Given the description of an element on the screen output the (x, y) to click on. 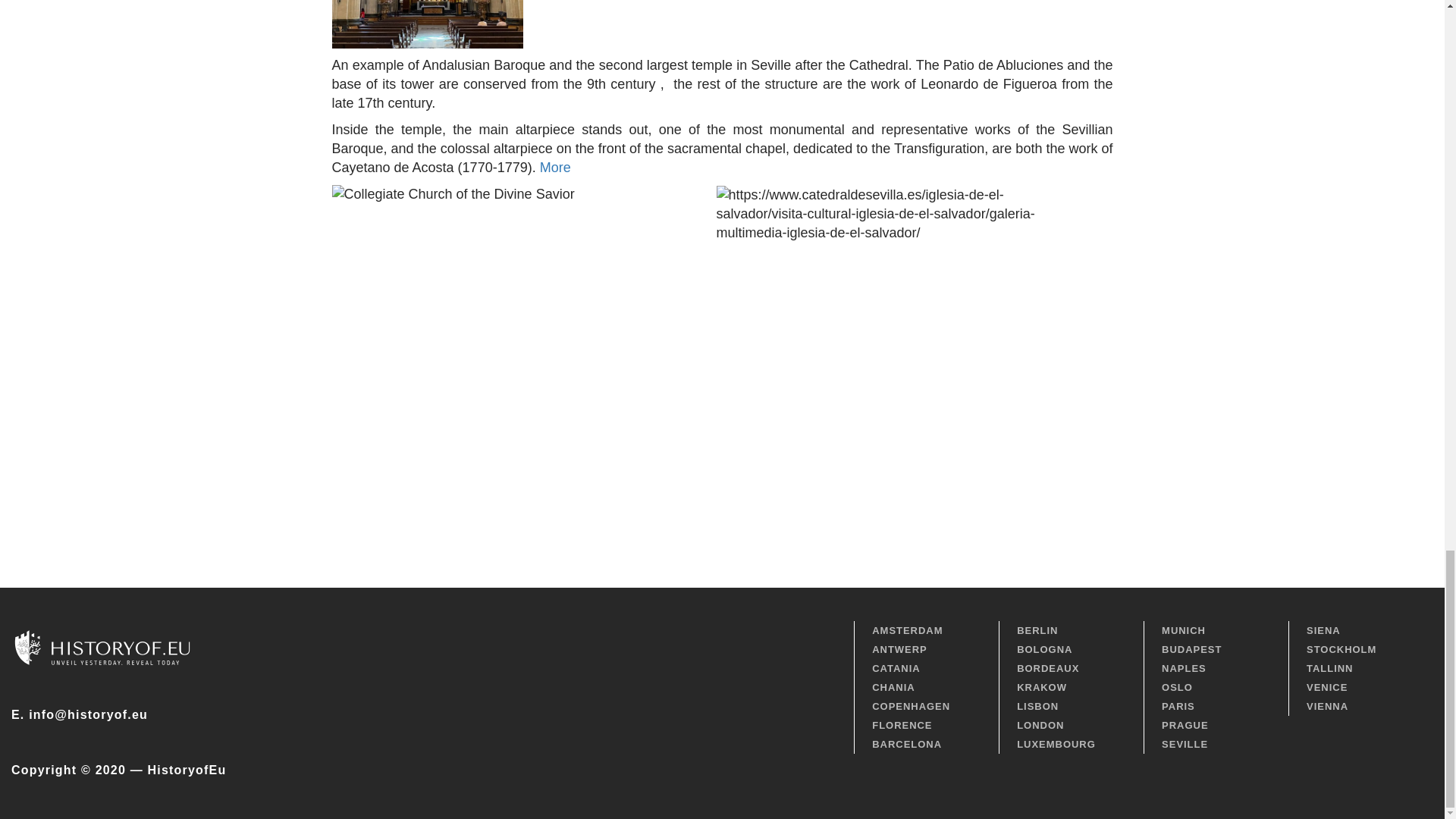
BARCELONA (925, 743)
MUNICH (1215, 629)
KRAKOW (1070, 687)
BOLOGNA (1070, 649)
CATANIA (925, 668)
BUDAPEST (1215, 649)
COPENHAGEN (925, 705)
OSLO (1215, 687)
LONDON (1070, 724)
ANTWERP (925, 649)
FLORENCE (925, 724)
BORDEAUX (1070, 668)
LUXEMBOURG (1070, 743)
LISBON (1070, 705)
NAPLES (1215, 668)
